Given the description of an element on the screen output the (x, y) to click on. 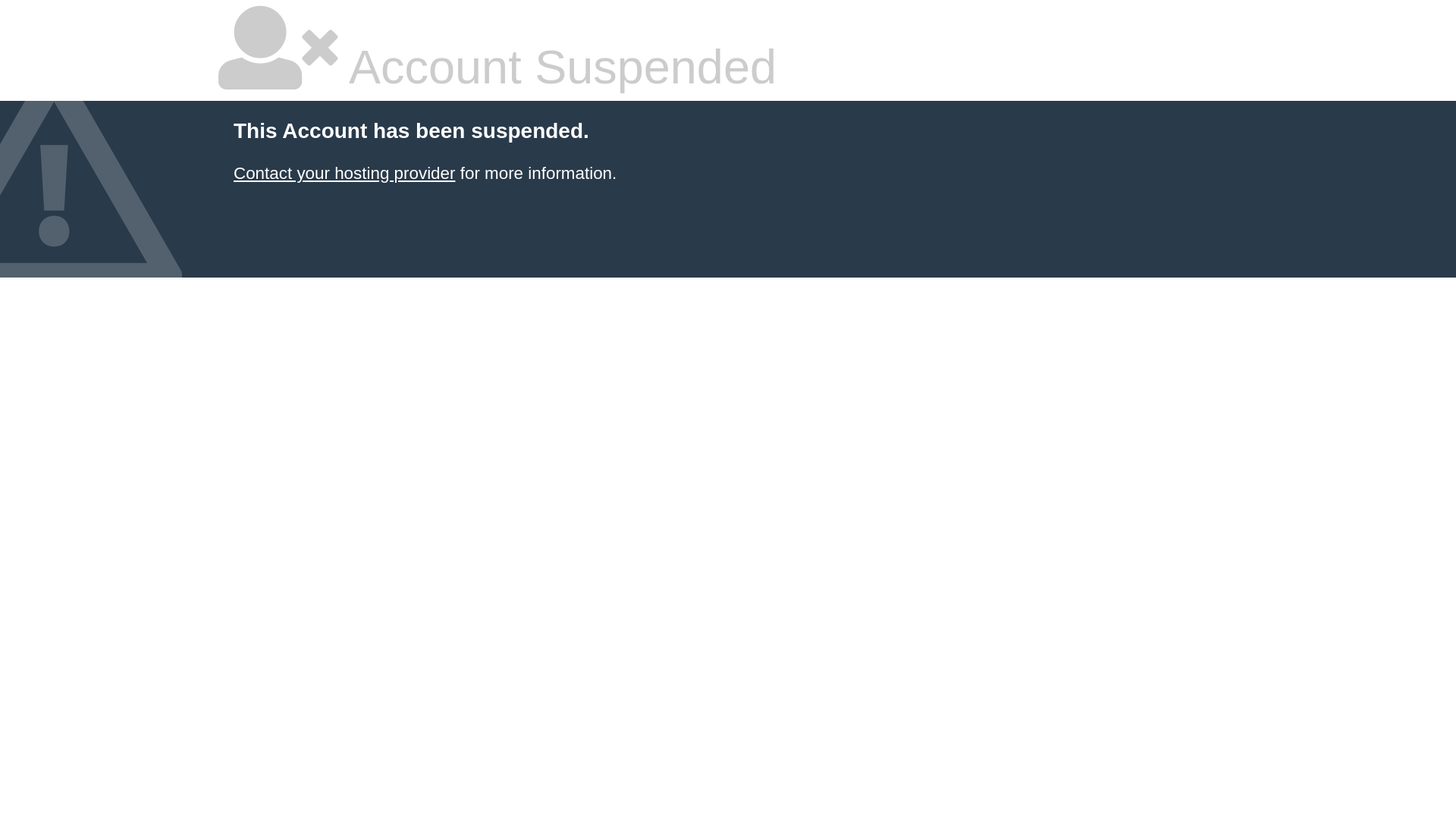
Contact your hosting provider Element type: text (344, 172)
